Given the description of an element on the screen output the (x, y) to click on. 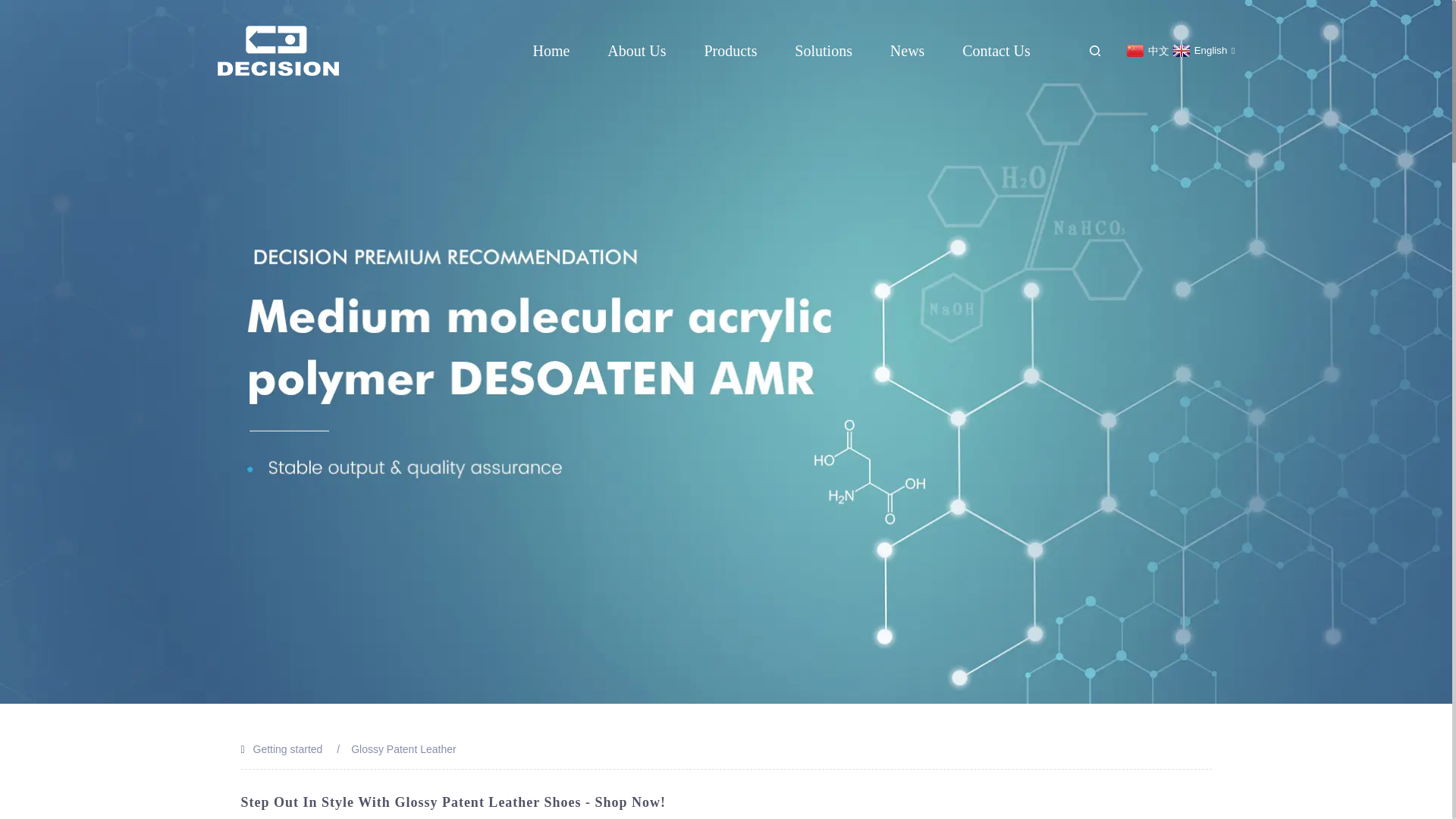
About Us (636, 50)
Home (551, 50)
Products (730, 50)
English (1201, 50)
Contact Us (995, 50)
Solutions (822, 50)
News (906, 50)
Glossy Patent Leather (403, 748)
English (1201, 50)
Getting started (288, 748)
